Given the description of an element on the screen output the (x, y) to click on. 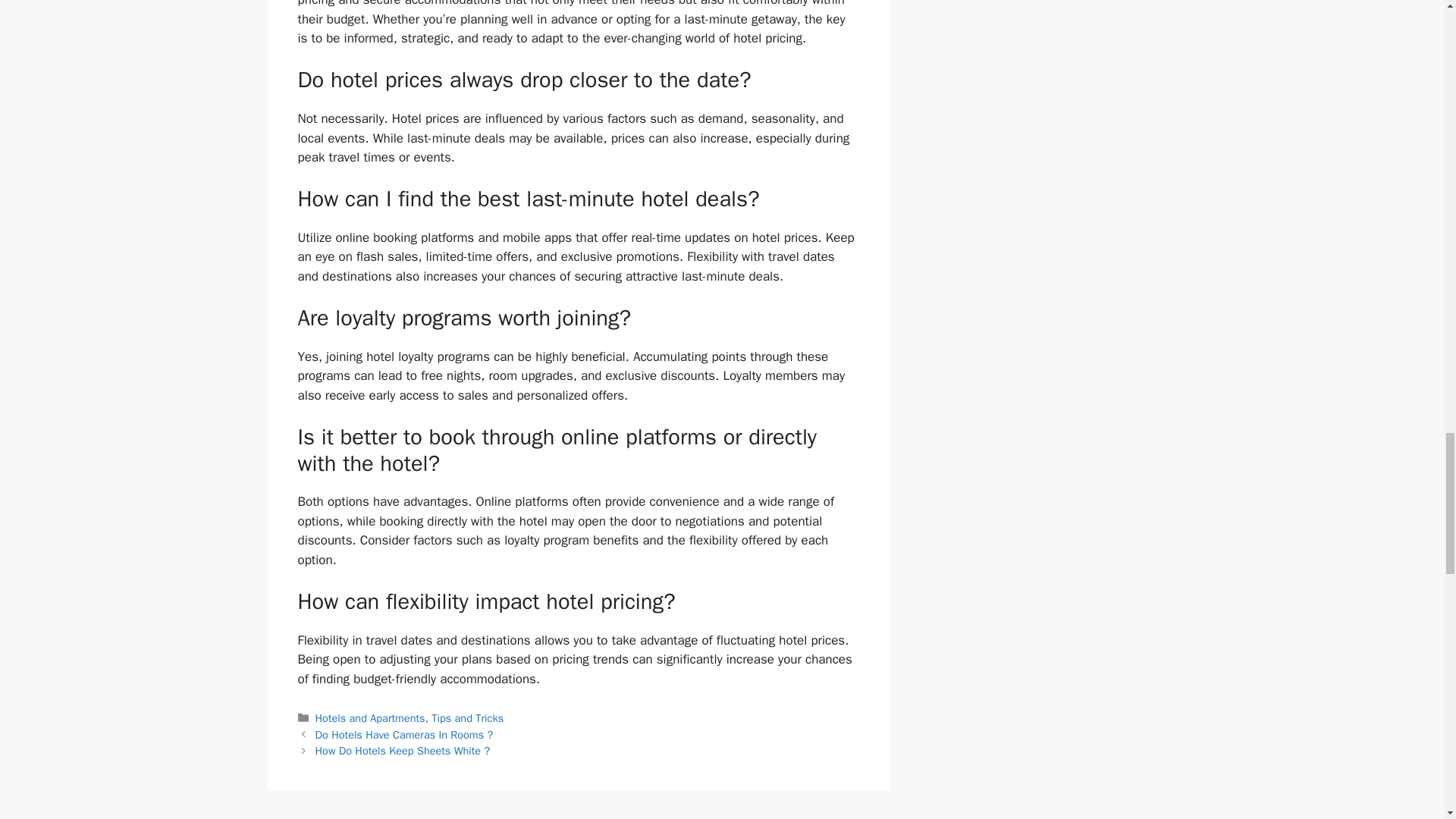
Tips and Tricks (466, 717)
Hotels and Apartments (370, 717)
How Do Hotels Keep Sheets White ? (402, 750)
Do Hotels Have Cameras In Rooms ? (404, 735)
